Given the description of an element on the screen output the (x, y) to click on. 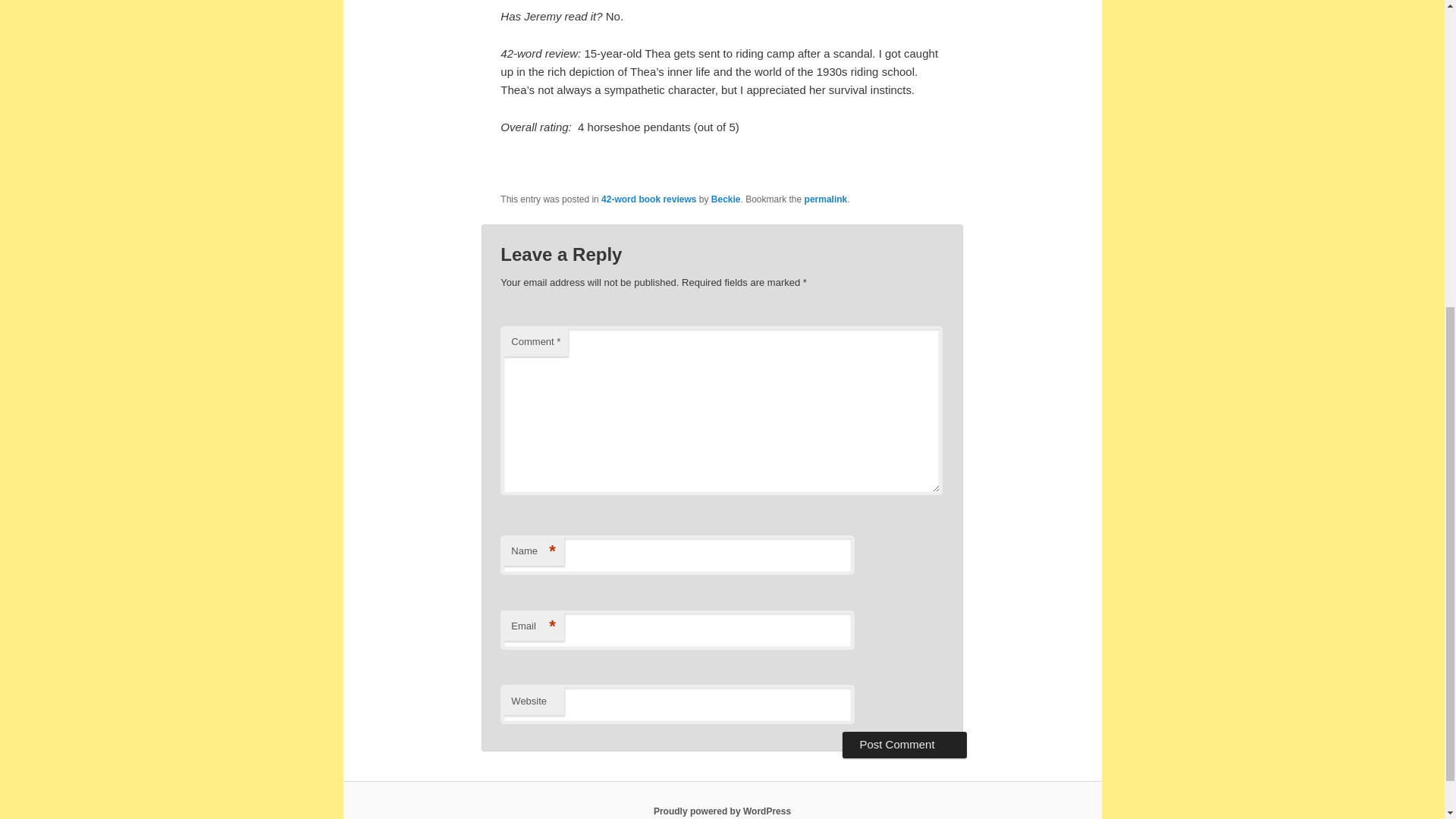
Beckie (726, 198)
permalink (826, 198)
Post Comment (904, 744)
Proudly powered by WordPress (721, 810)
42-word book reviews (648, 198)
Post Comment (904, 744)
Semantic Personal Publishing Platform (721, 810)
